Given the description of an element on the screen output the (x, y) to click on. 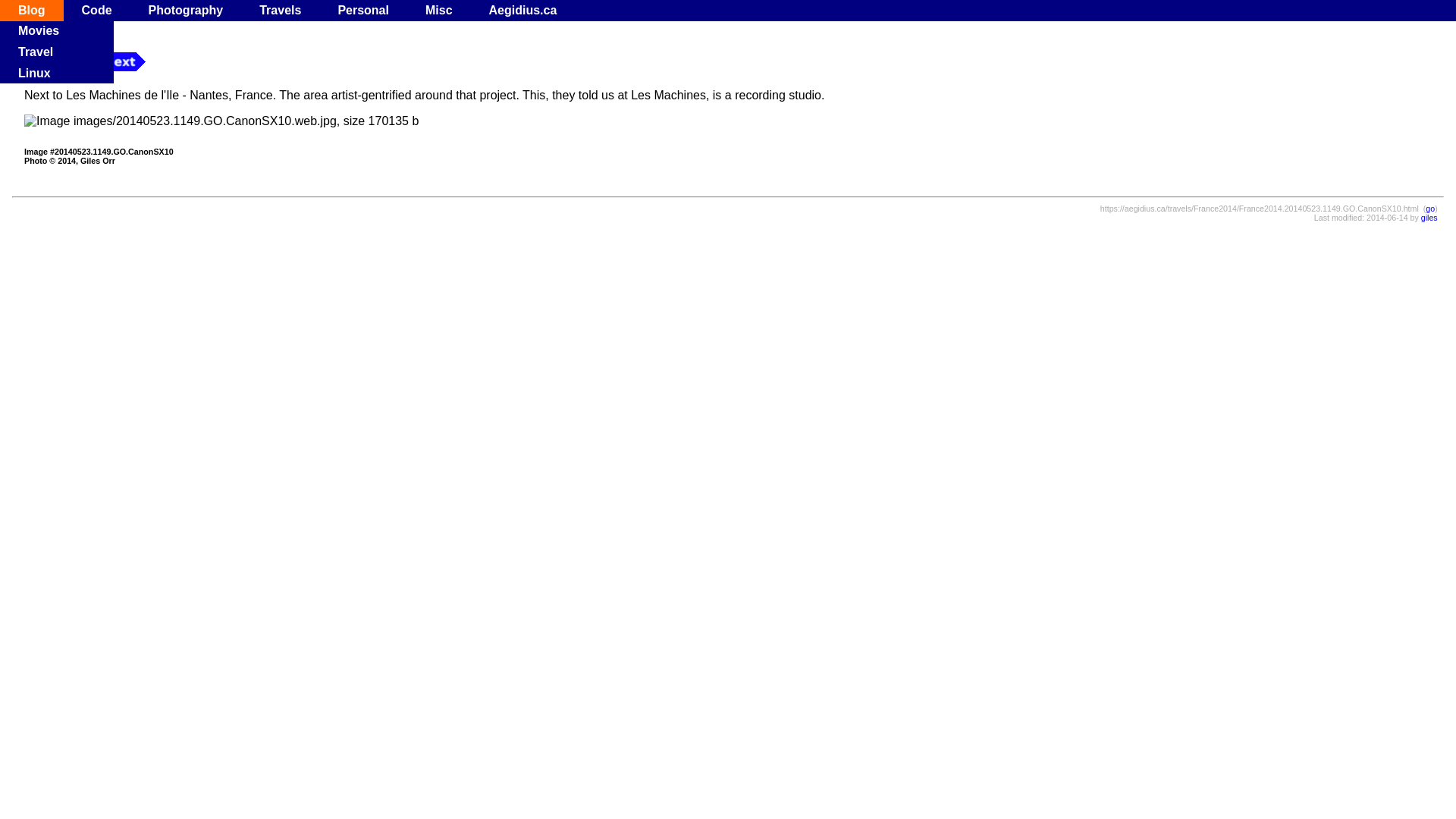
Photography Element type: text (185, 9)
Misc Element type: text (438, 9)
Code Element type: text (96, 9)
Travels Element type: text (280, 9)
Linux Element type: text (34, 72)
go Element type: text (1429, 208)
Personal Element type: text (363, 9)
Blog Element type: text (31, 9)
Aegidius.ca Element type: text (523, 9)
giles Element type: text (1429, 217)
Movies Element type: text (38, 30)
Travel Element type: text (35, 51)
